Given the description of an element on the screen output the (x, y) to click on. 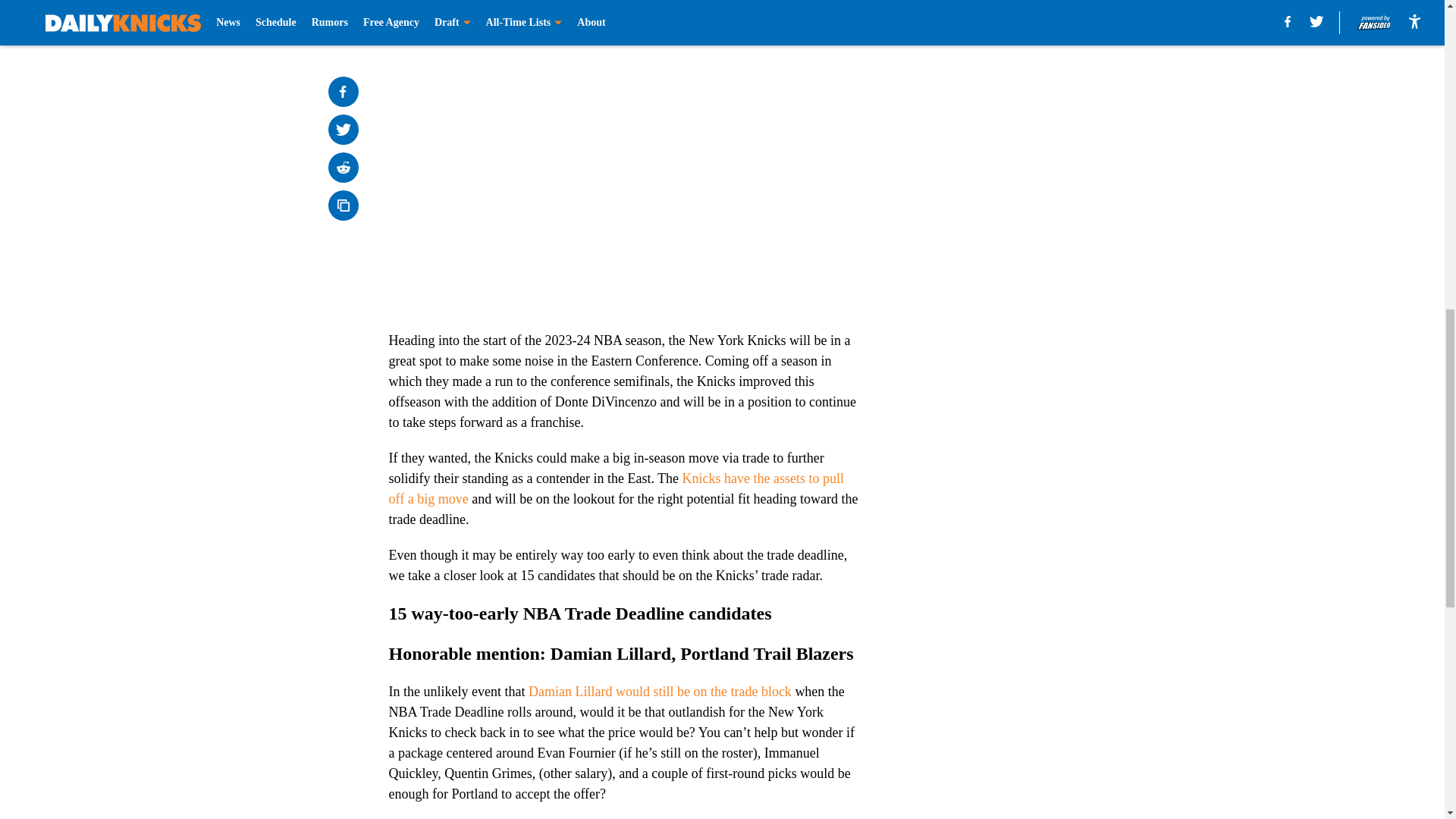
Knicks have the assets to pull off a big move (616, 488)
Prev (433, 20)
Damian Lillard would still be on the trade block (660, 691)
Next (813, 20)
